Given the description of an element on the screen output the (x, y) to click on. 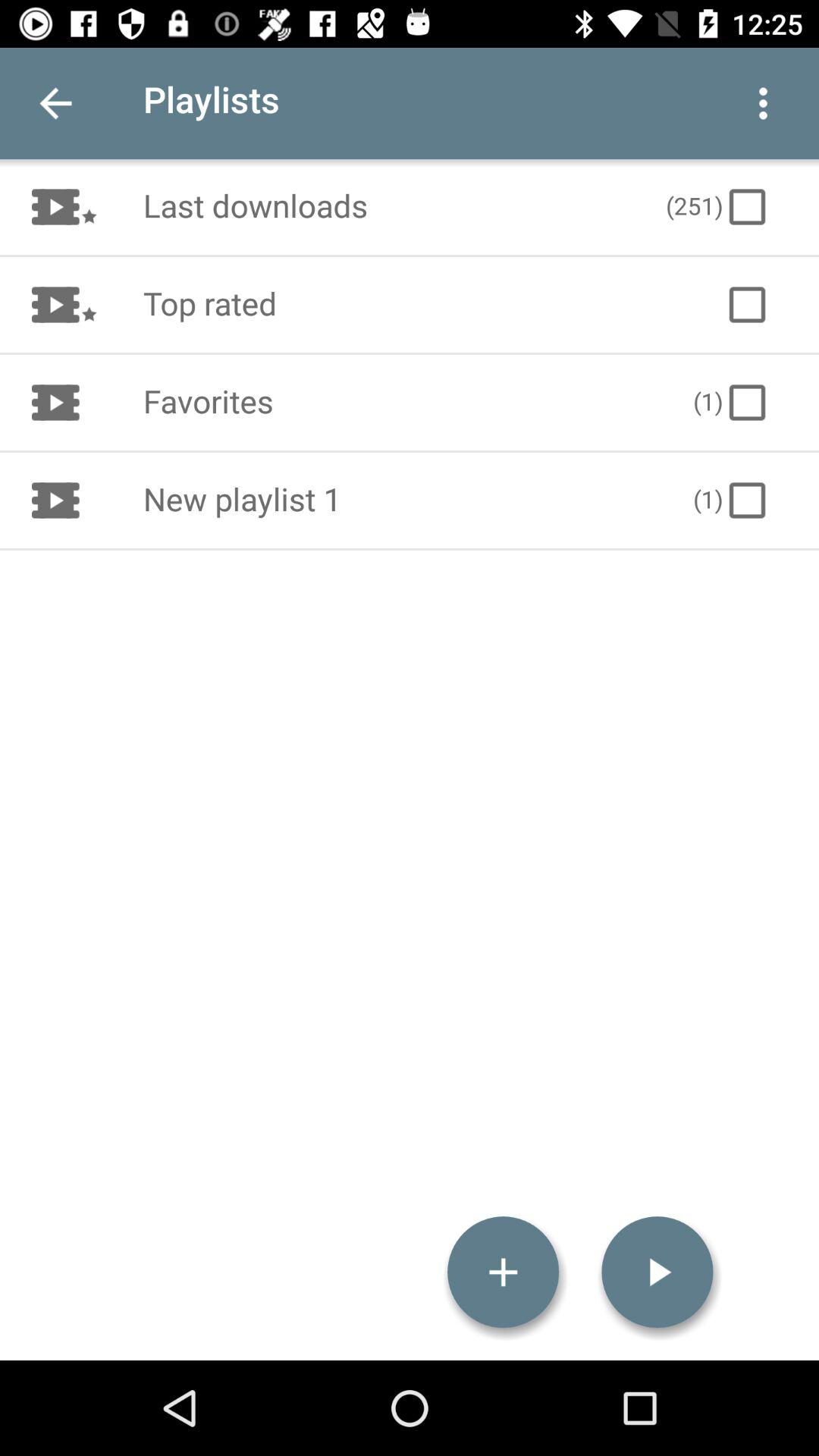
swipe until the (251) item (718, 206)
